Given the description of an element on the screen output the (x, y) to click on. 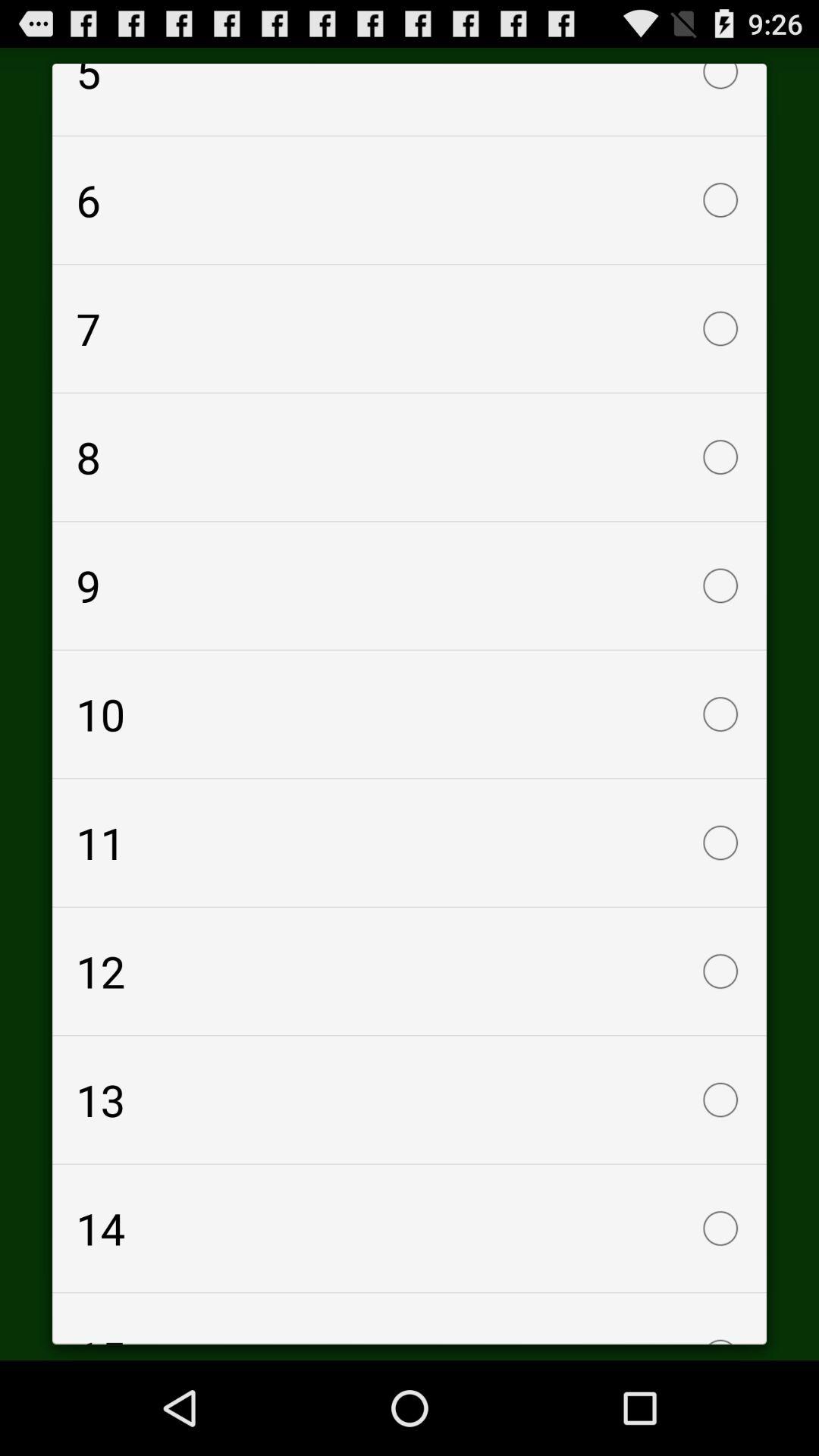
swipe until the 9 (409, 585)
